Given the description of an element on the screen output the (x, y) to click on. 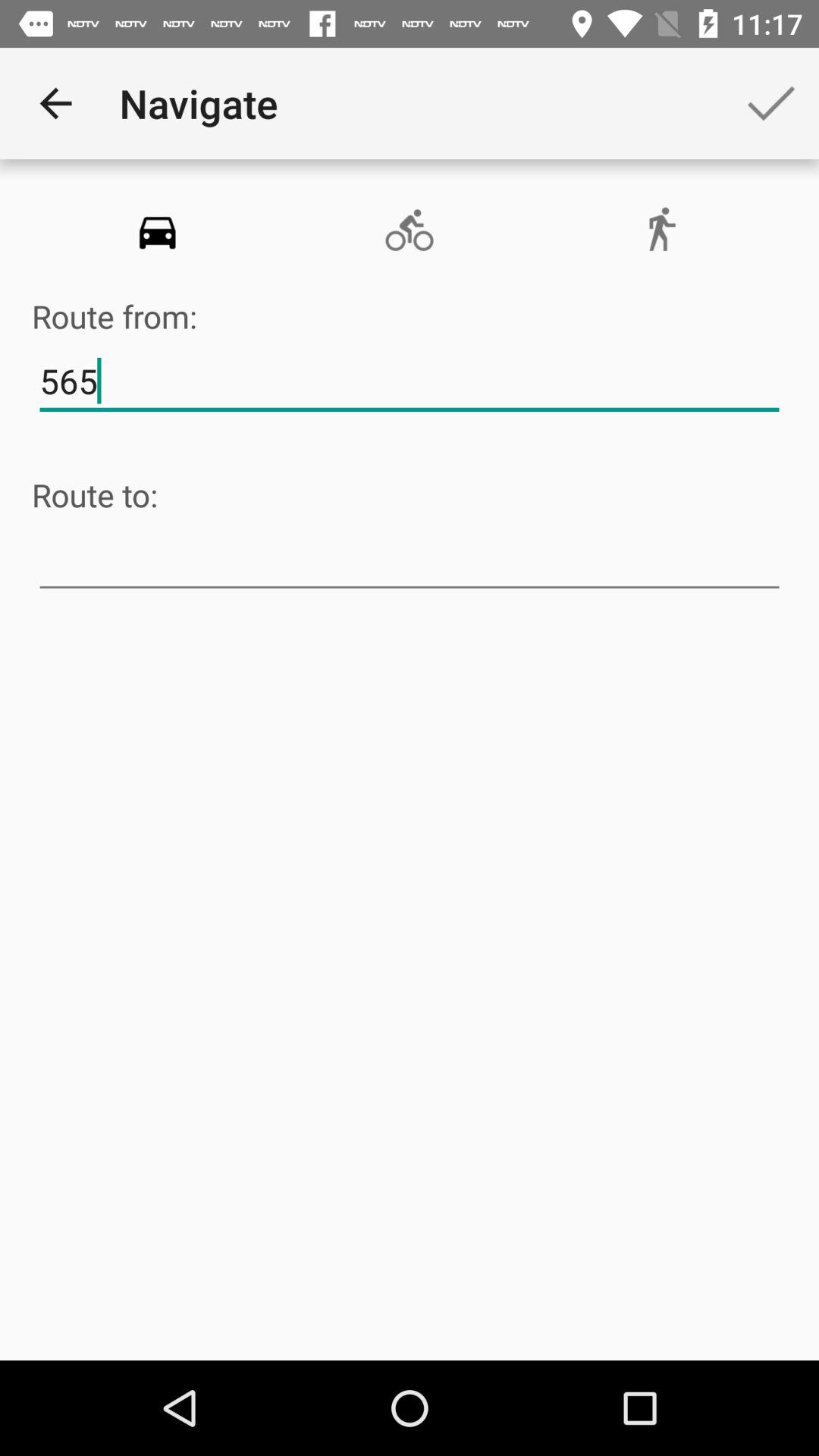
open the icon below the route from: icon (409, 381)
